Given the description of an element on the screen output the (x, y) to click on. 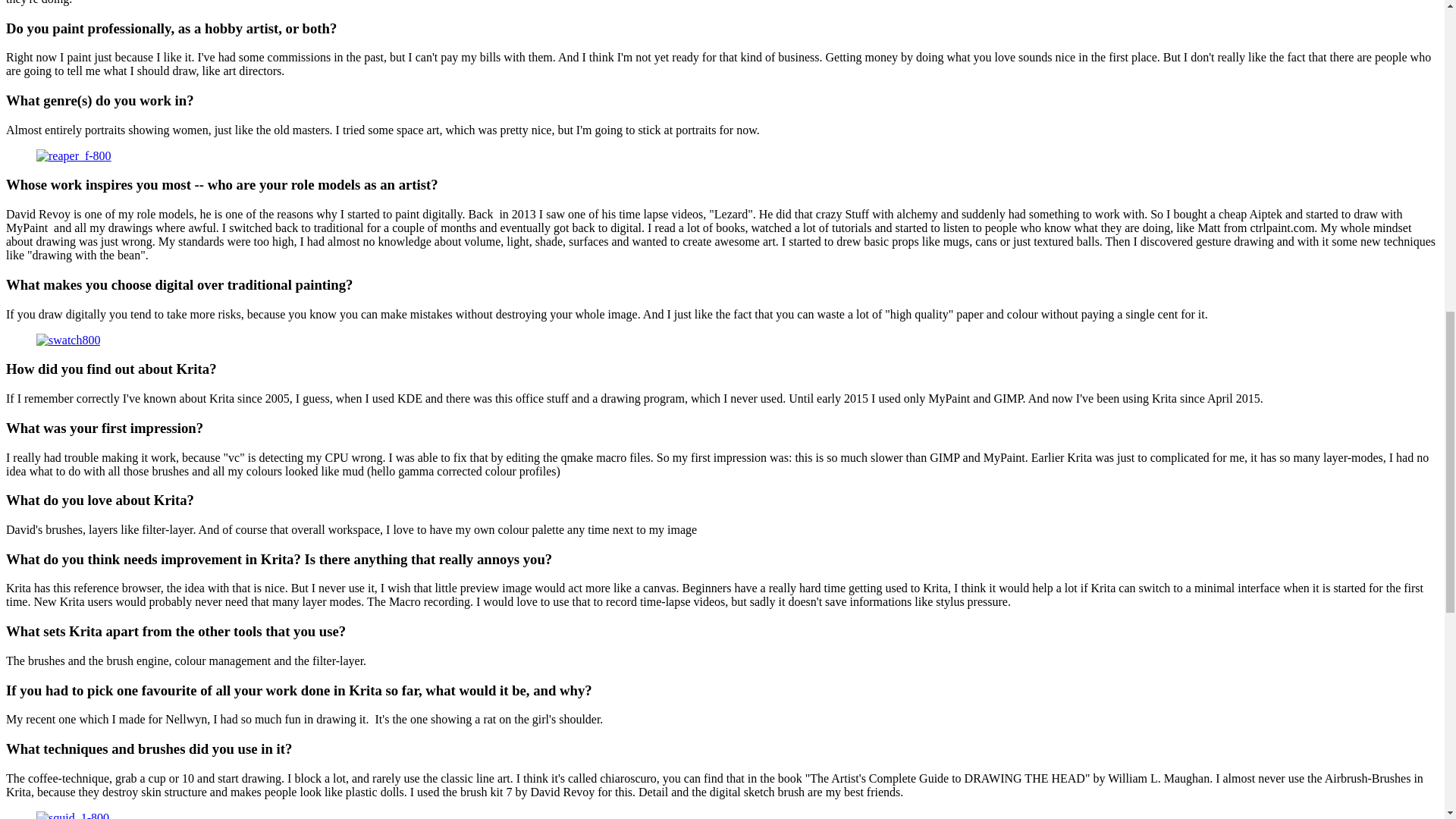
swatch800 (68, 340)
